Given the description of an element on the screen output the (x, y) to click on. 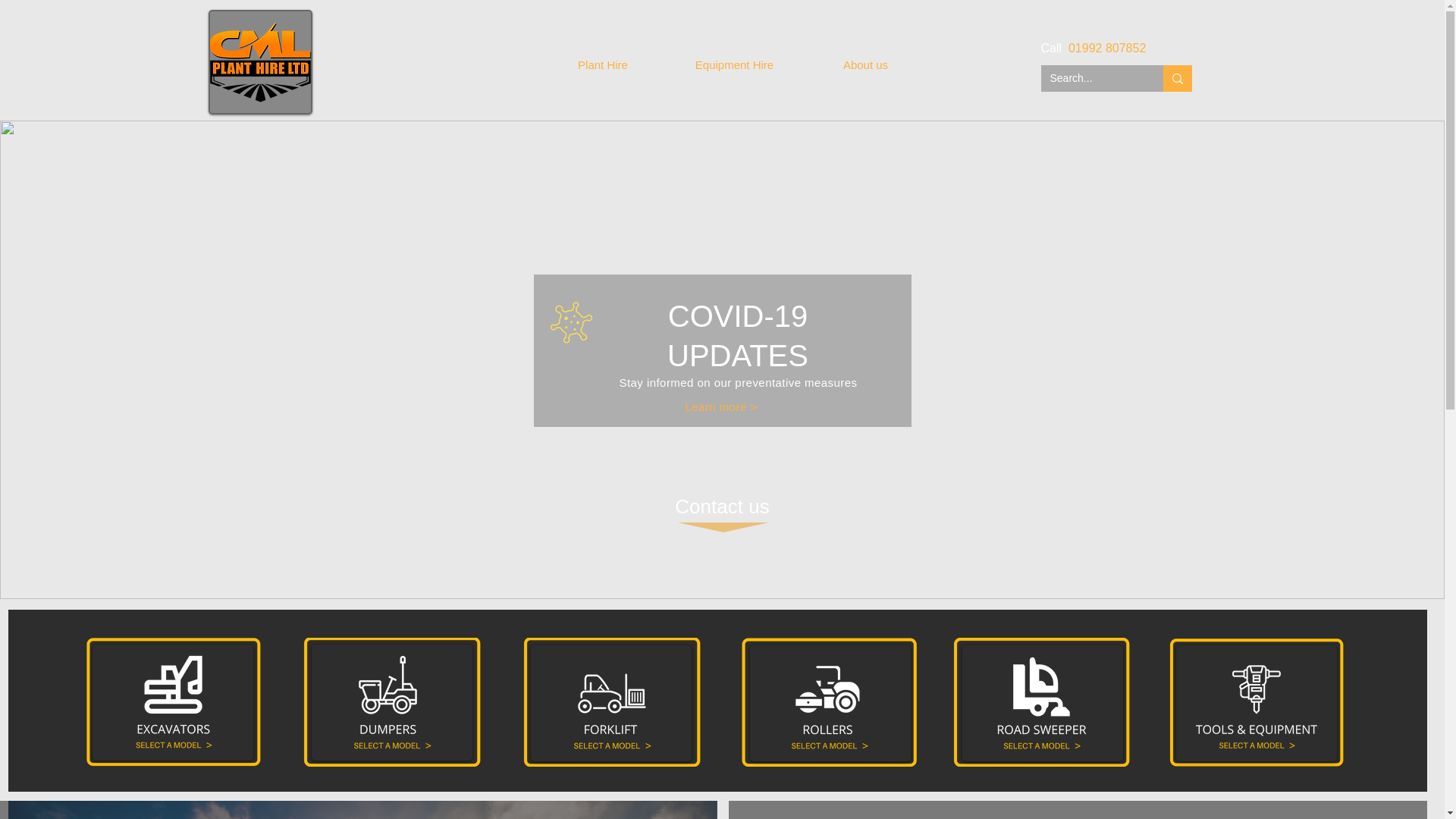
Call  01992 807852 (1093, 47)
Contact us (722, 507)
Plant Hire (602, 64)
About us (865, 64)
Home (470, 64)
Equipment Hire (733, 64)
